Given the description of an element on the screen output the (x, y) to click on. 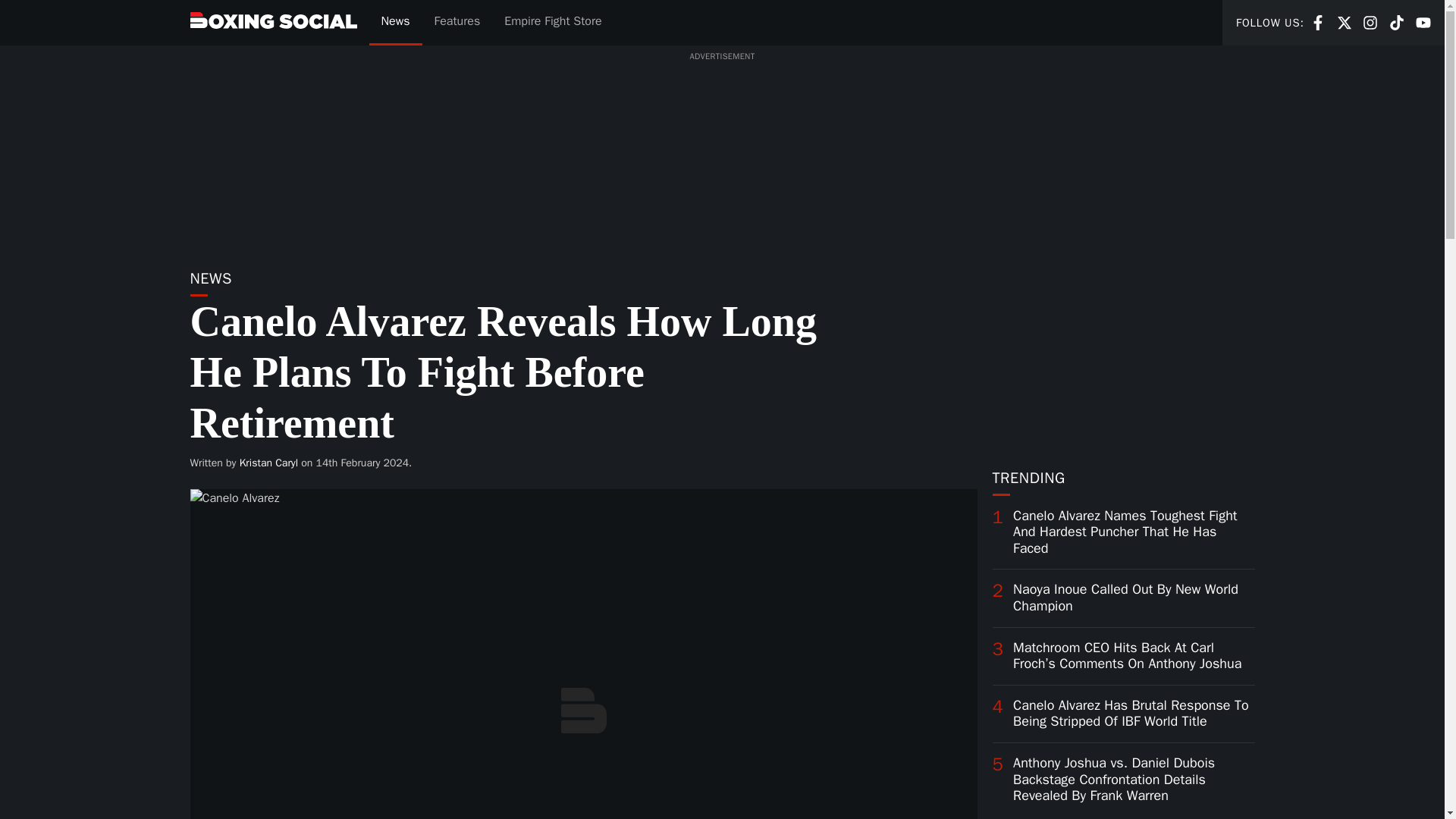
FACEBOOK (1317, 22)
YOUTUBE (1423, 22)
Empire Fight Store (1344, 21)
X (1317, 21)
News (552, 22)
